Given the description of an element on the screen output the (x, y) to click on. 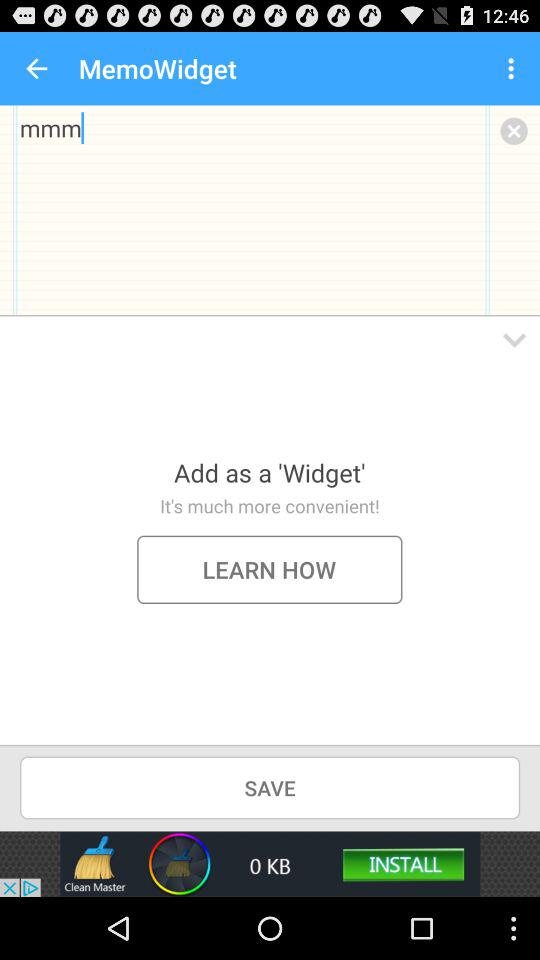
discard memo (514, 130)
